Given the description of an element on the screen output the (x, y) to click on. 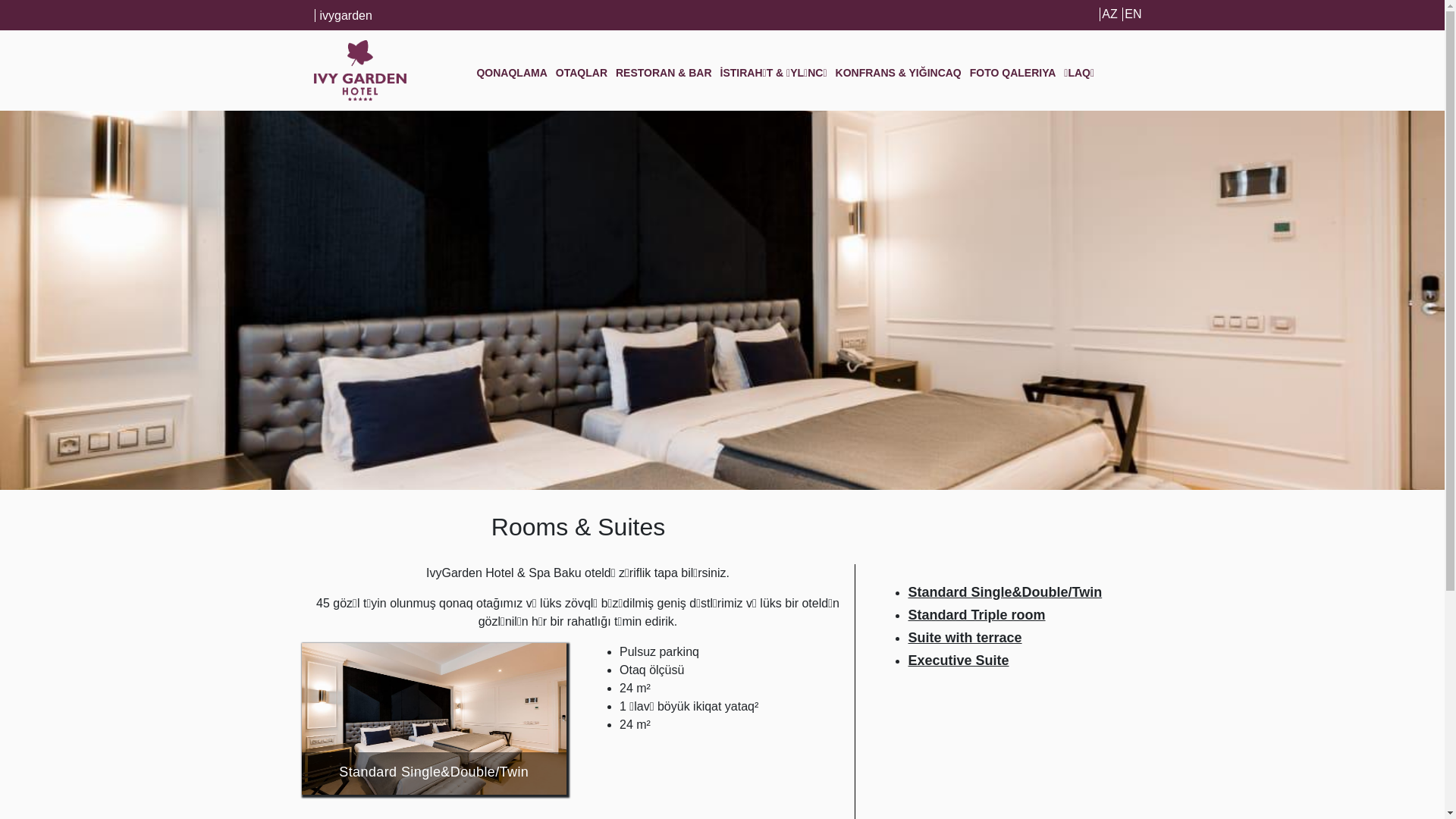
FOTO QALERIYA Element type: text (1012, 73)
OTAQLAR Element type: text (581, 73)
RESTORAN & BAR Element type: text (663, 73)
QONAQLAMA Element type: text (511, 73)
AZ Element type: text (1109, 13)
EN Element type: text (1132, 13)
